Given the description of an element on the screen output the (x, y) to click on. 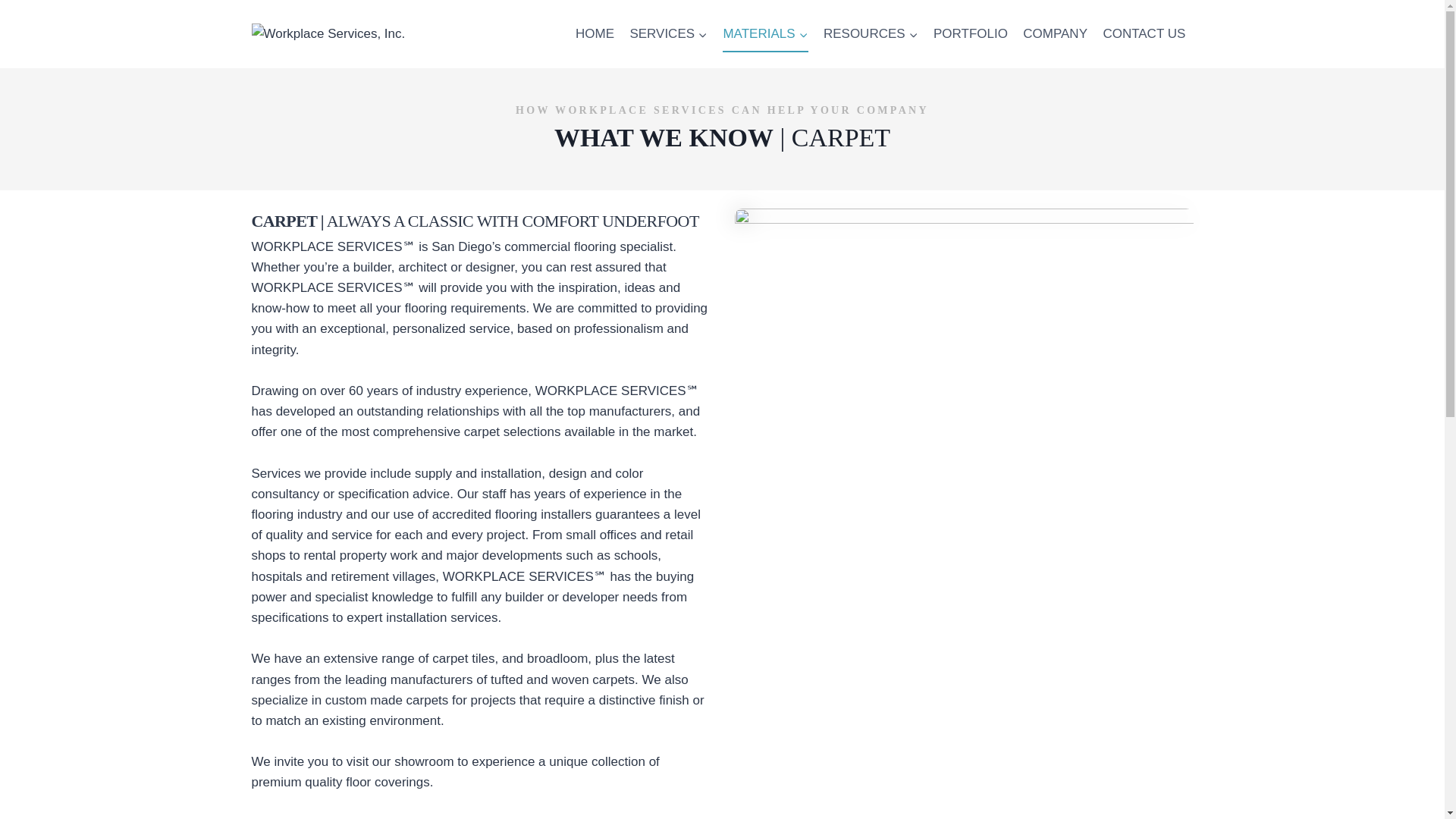
MATERIALS (764, 33)
RESOURCES (870, 33)
CONTACT US (1143, 33)
COMPANY (1054, 33)
PORTFOLIO (970, 33)
SERVICES (667, 33)
HOME (594, 33)
